Given the description of an element on the screen output the (x, y) to click on. 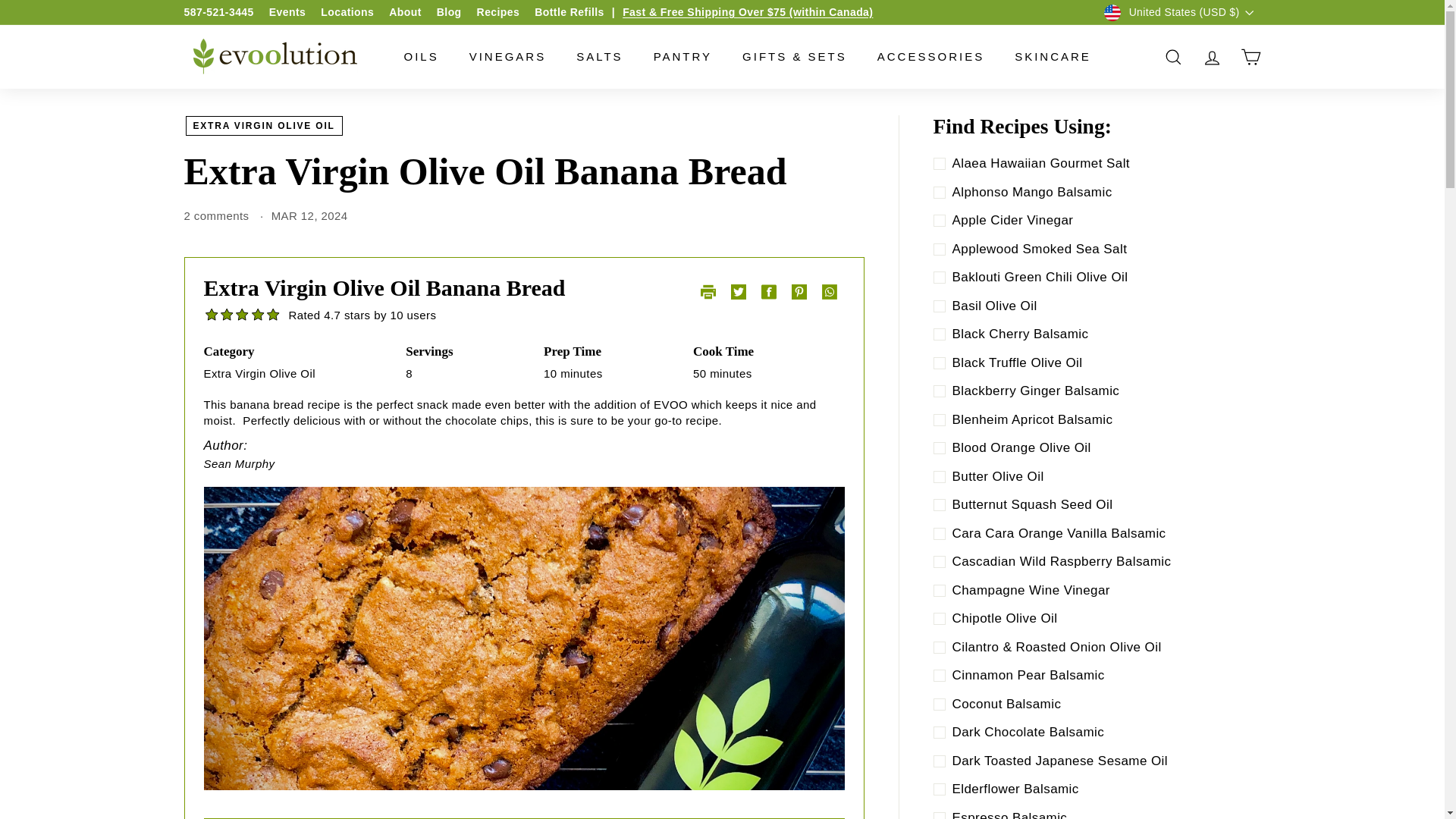
Locations (347, 11)
About (405, 11)
OILS (420, 56)
SALTS (598, 56)
PANTRY (682, 56)
VINEGARS (508, 56)
Recipes (498, 11)
Events (287, 11)
587-521-3445 (218, 11)
